Given the description of an element on the screen output the (x, y) to click on. 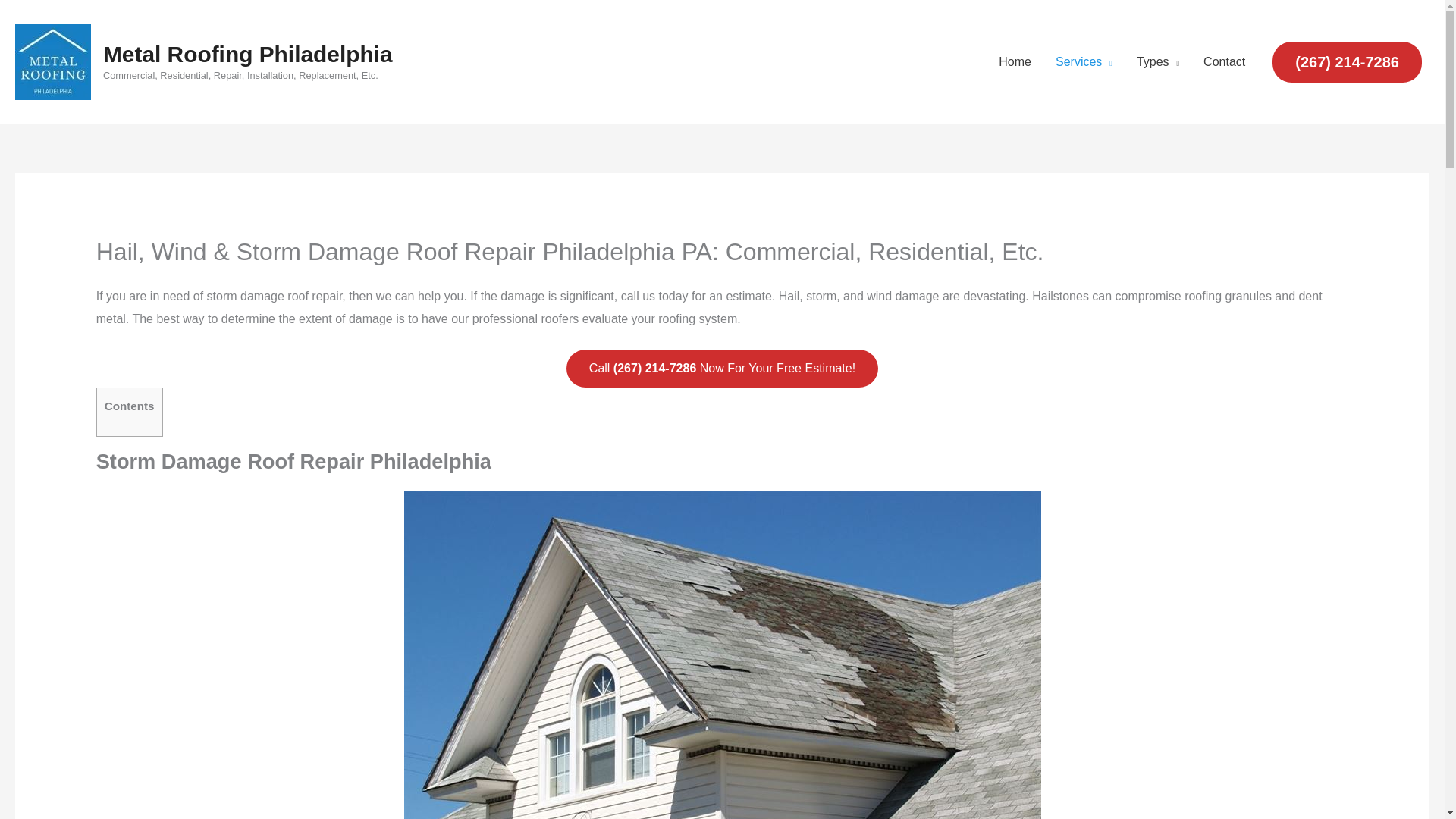
Home (1015, 62)
Types (1157, 62)
Metal Roofing Philadelphia (248, 53)
Services (1083, 62)
Contact (1224, 62)
